Given the description of an element on the screen output the (x, y) to click on. 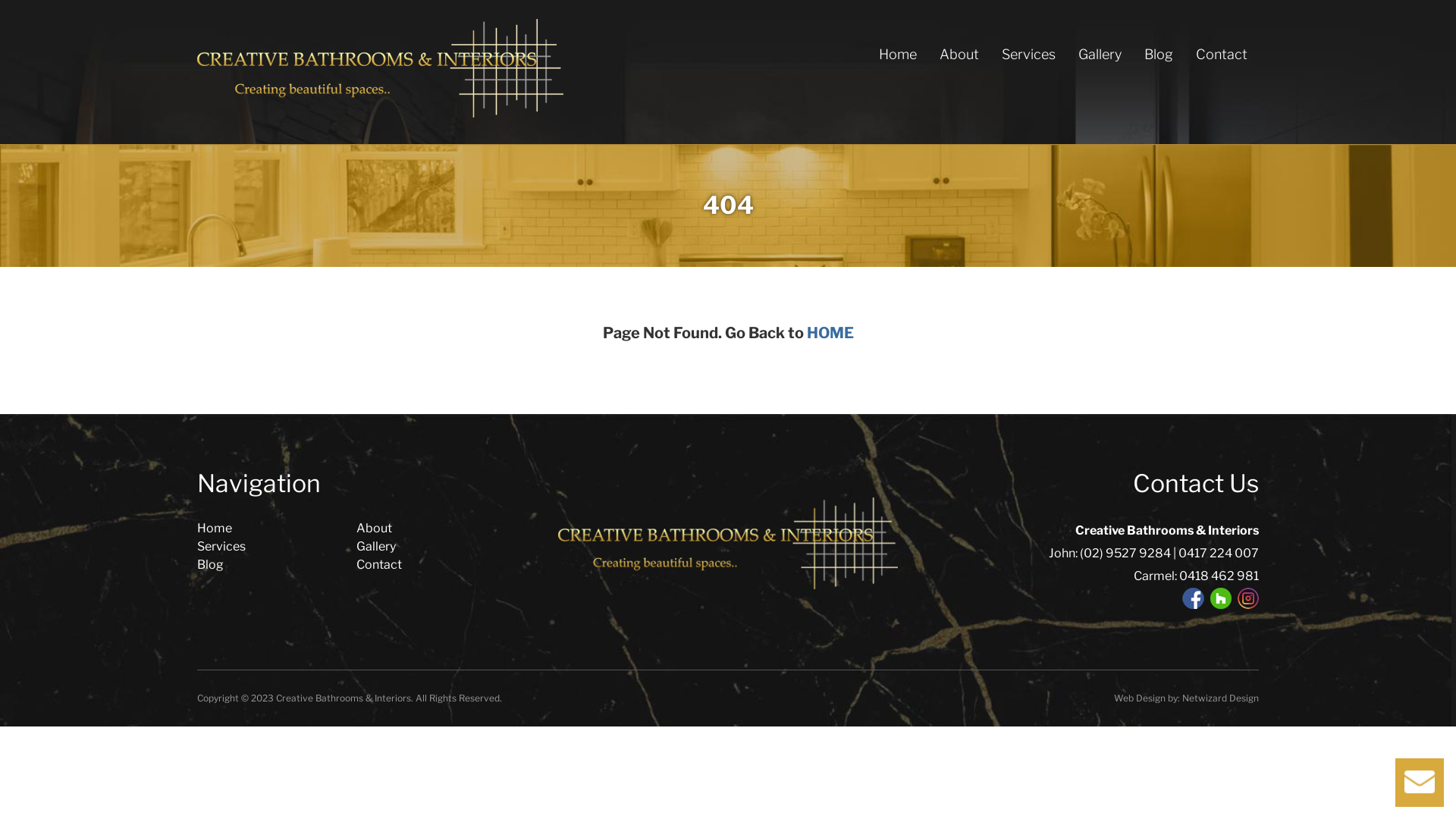
About Element type: text (959, 54)
Blog Element type: text (1158, 54)
Blog Element type: text (210, 564)
Contact Element type: text (1221, 54)
Contact Element type: text (378, 564)
Gallery Element type: text (1099, 54)
Netwizard Design Element type: text (1220, 697)
Services Element type: text (1028, 54)
Home Element type: text (897, 54)
Home Element type: text (214, 527)
Services Element type: text (221, 546)
About Element type: text (374, 527)
HOME Element type: text (829, 332)
Gallery Element type: text (375, 546)
